Given the description of an element on the screen output the (x, y) to click on. 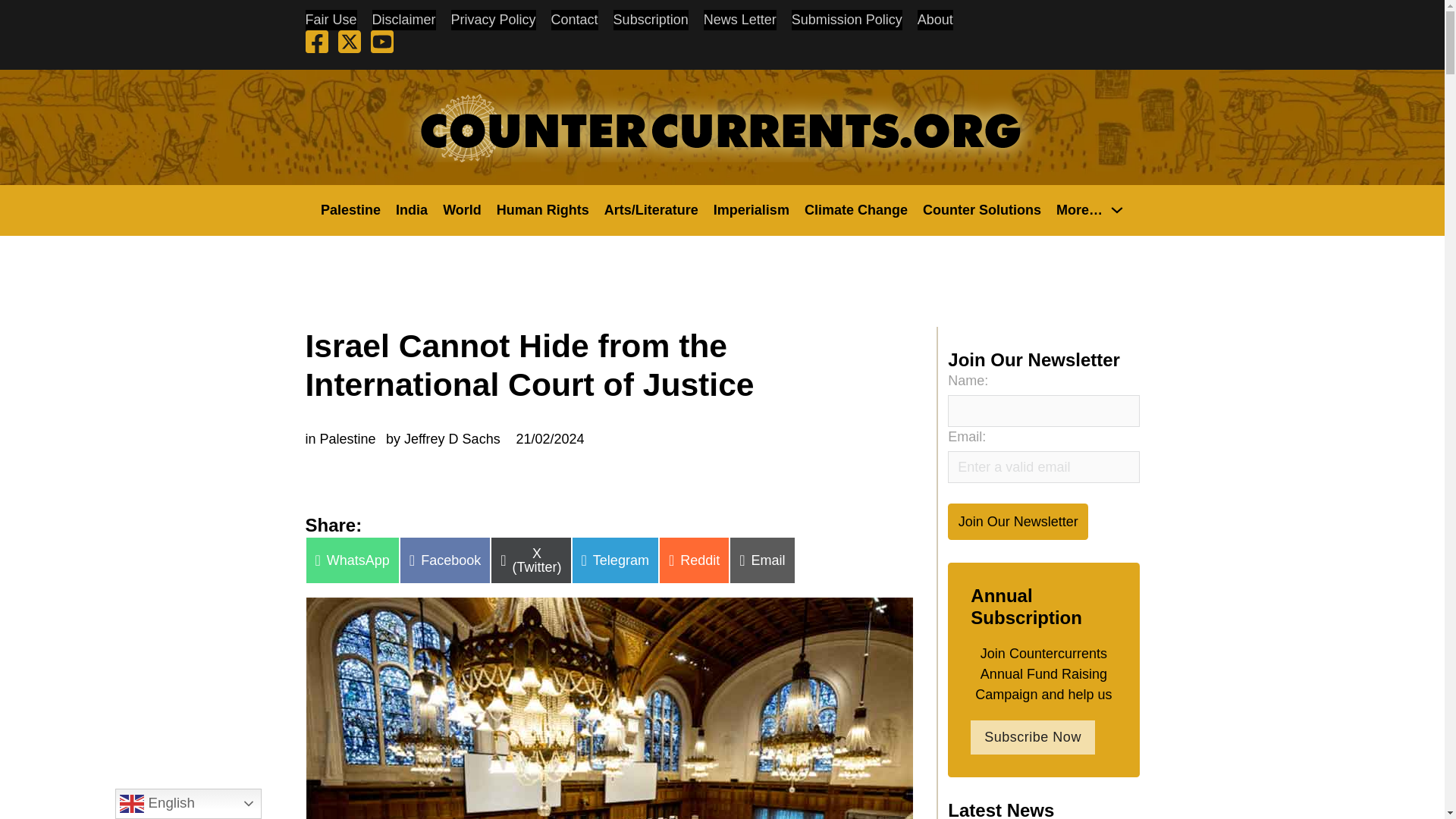
India (412, 209)
Subscription (650, 19)
Privacy Policy (493, 19)
World (461, 209)
Contact (574, 19)
Imperialism (751, 209)
About (935, 19)
Join Our Newsletter (1017, 520)
News Letter (739, 19)
